Given the description of an element on the screen output the (x, y) to click on. 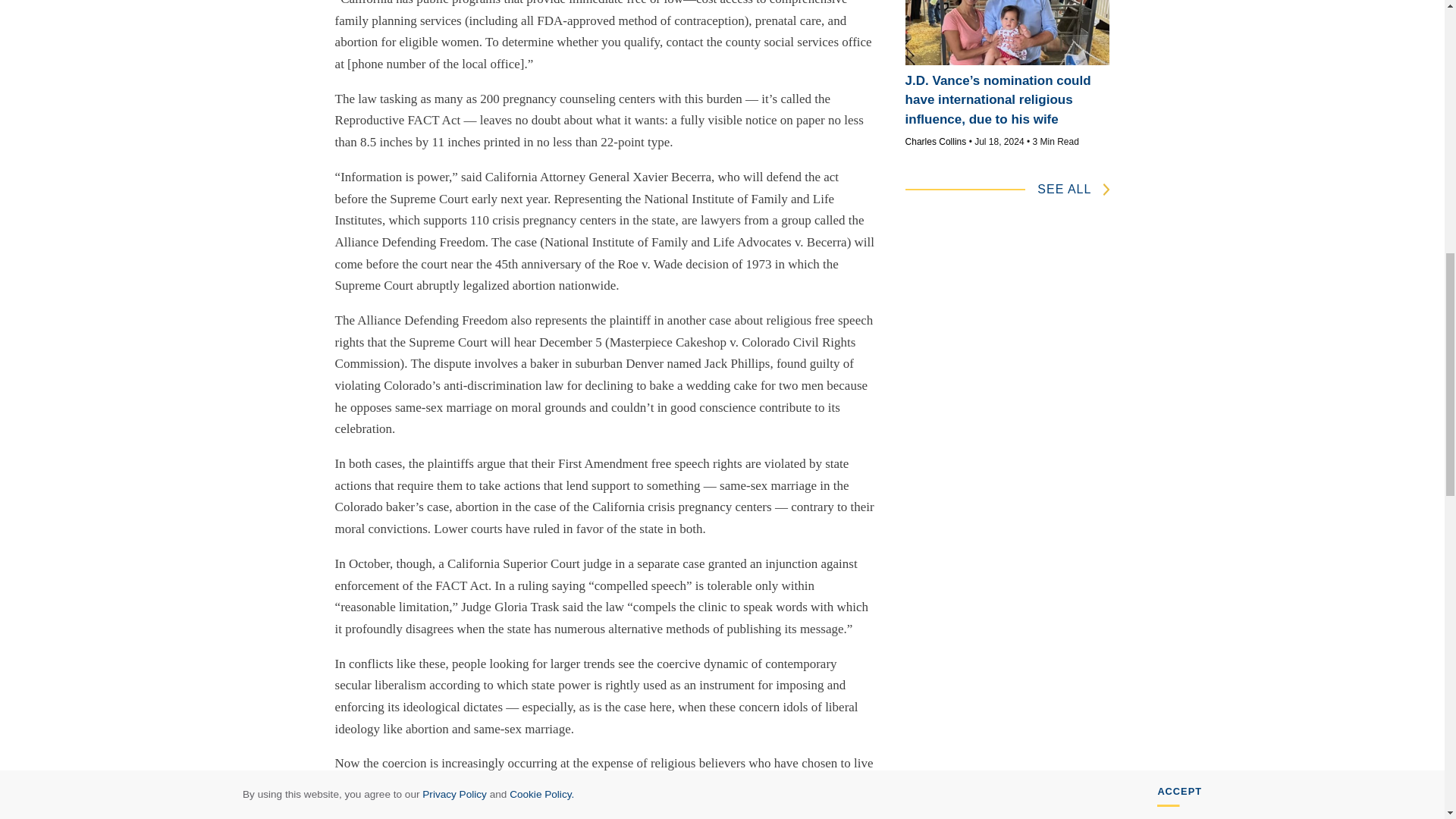
Posts by Charles Collins (935, 141)
